Given the description of an element on the screen output the (x, y) to click on. 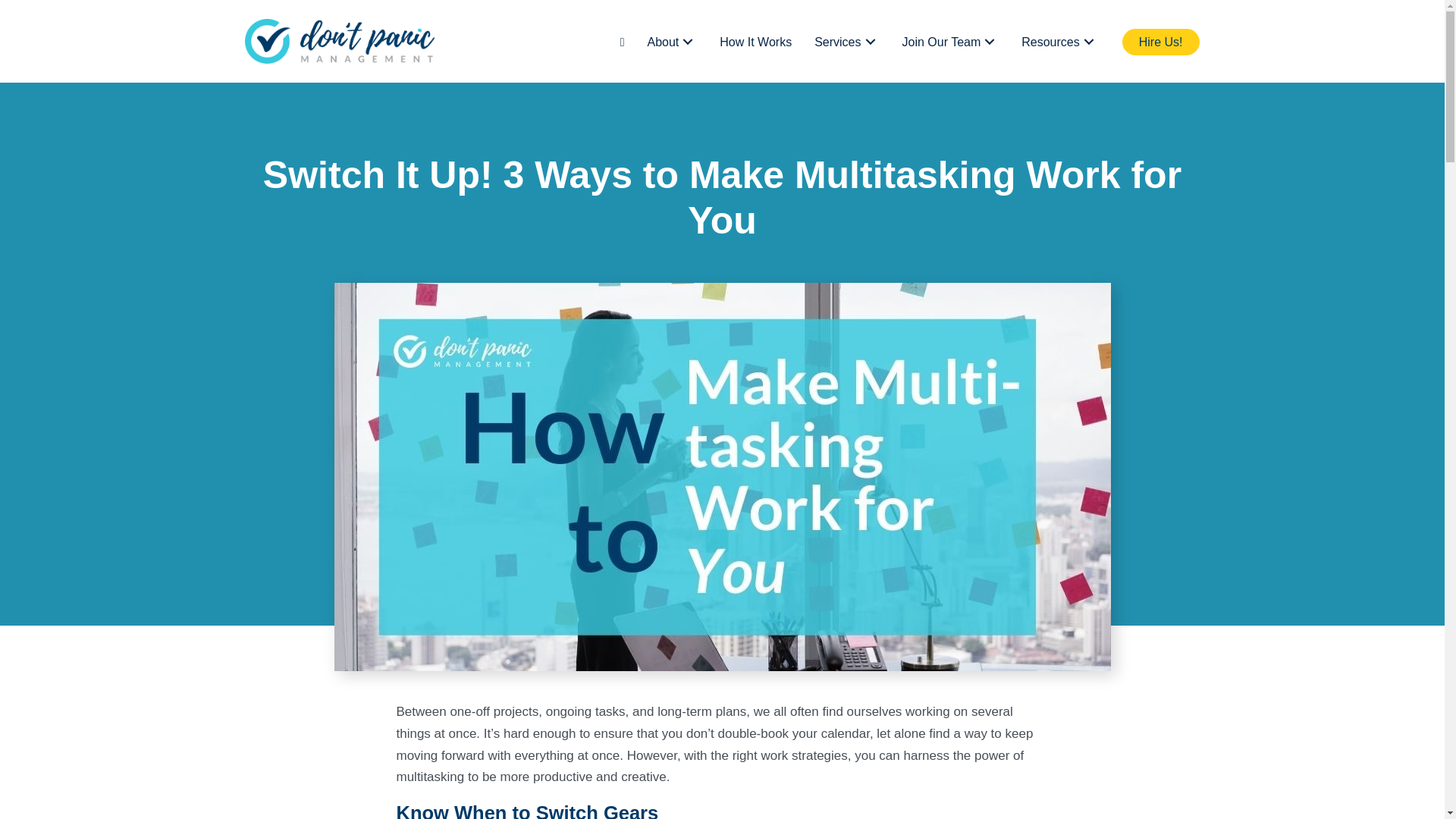
Resources (1059, 41)
Join Our Team (951, 41)
How It Works (755, 41)
Hire Us! (1160, 41)
About (672, 41)
Services (846, 41)
